Given the description of an element on the screen output the (x, y) to click on. 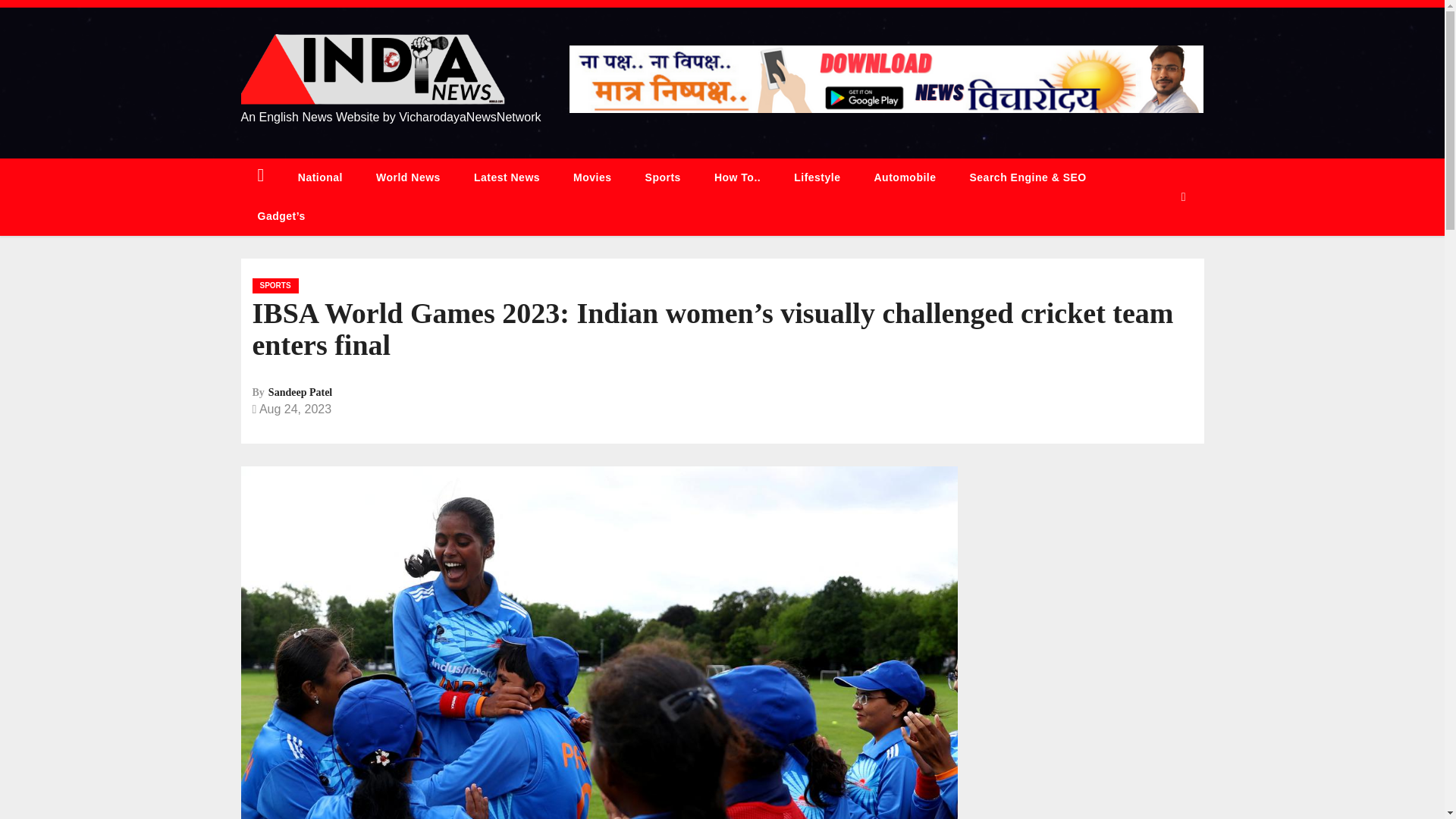
How to.. (737, 177)
Lifestyle (817, 177)
Automobile (904, 177)
Movies (591, 177)
Latest News (506, 177)
Sandeep Patel (299, 392)
Latest news (506, 177)
National (320, 177)
SPORTS (274, 285)
Sports (662, 177)
Home (261, 177)
World News (408, 177)
National (320, 177)
Sports (662, 177)
World News (408, 177)
